Given the description of an element on the screen output the (x, y) to click on. 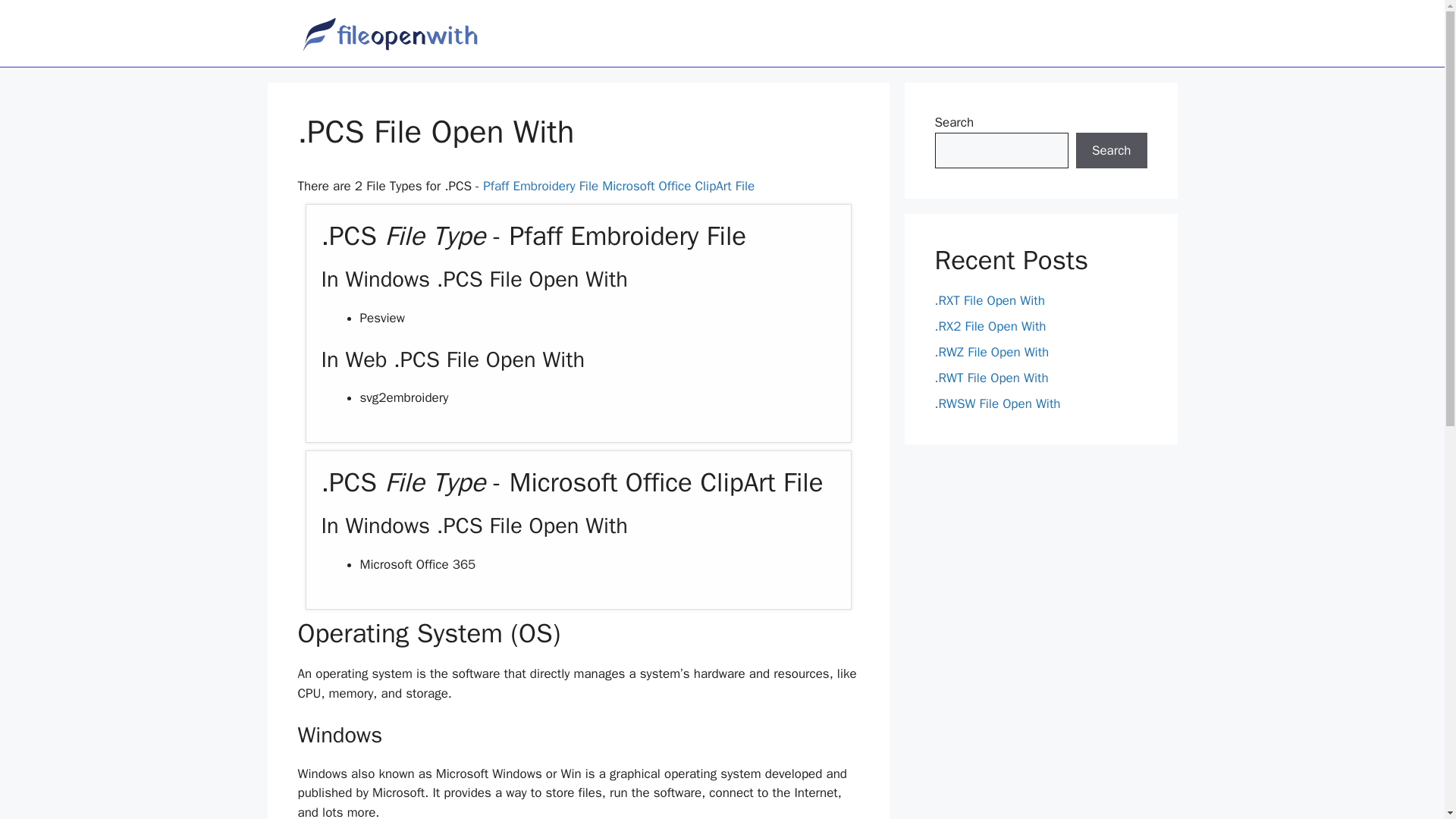
Microsoft Office ClipArt File (678, 186)
.RXT File Open With (988, 300)
Pfaff Embroidery File (540, 186)
.RWT File Open With (991, 377)
Search (1111, 149)
.RWSW File Open With (996, 403)
.RX2 File Open With (989, 326)
.RWZ File Open With (991, 351)
